Given the description of an element on the screen output the (x, y) to click on. 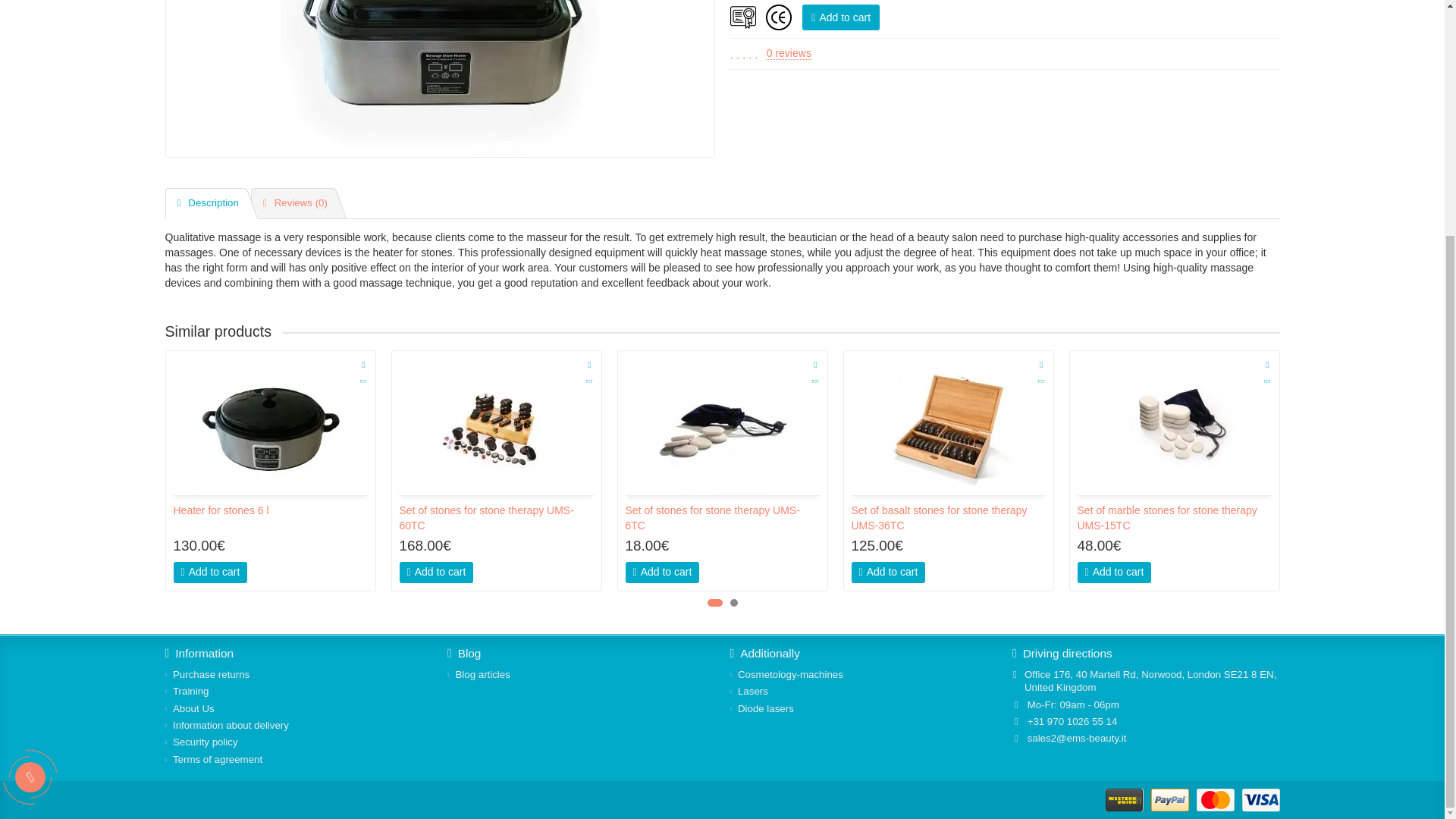
Add to cart (840, 17)
0 reviews (788, 52)
Heater for stones 18 l (439, 79)
Heater for stones 18 l (439, 79)
Description (206, 203)
